Given the description of an element on the screen output the (x, y) to click on. 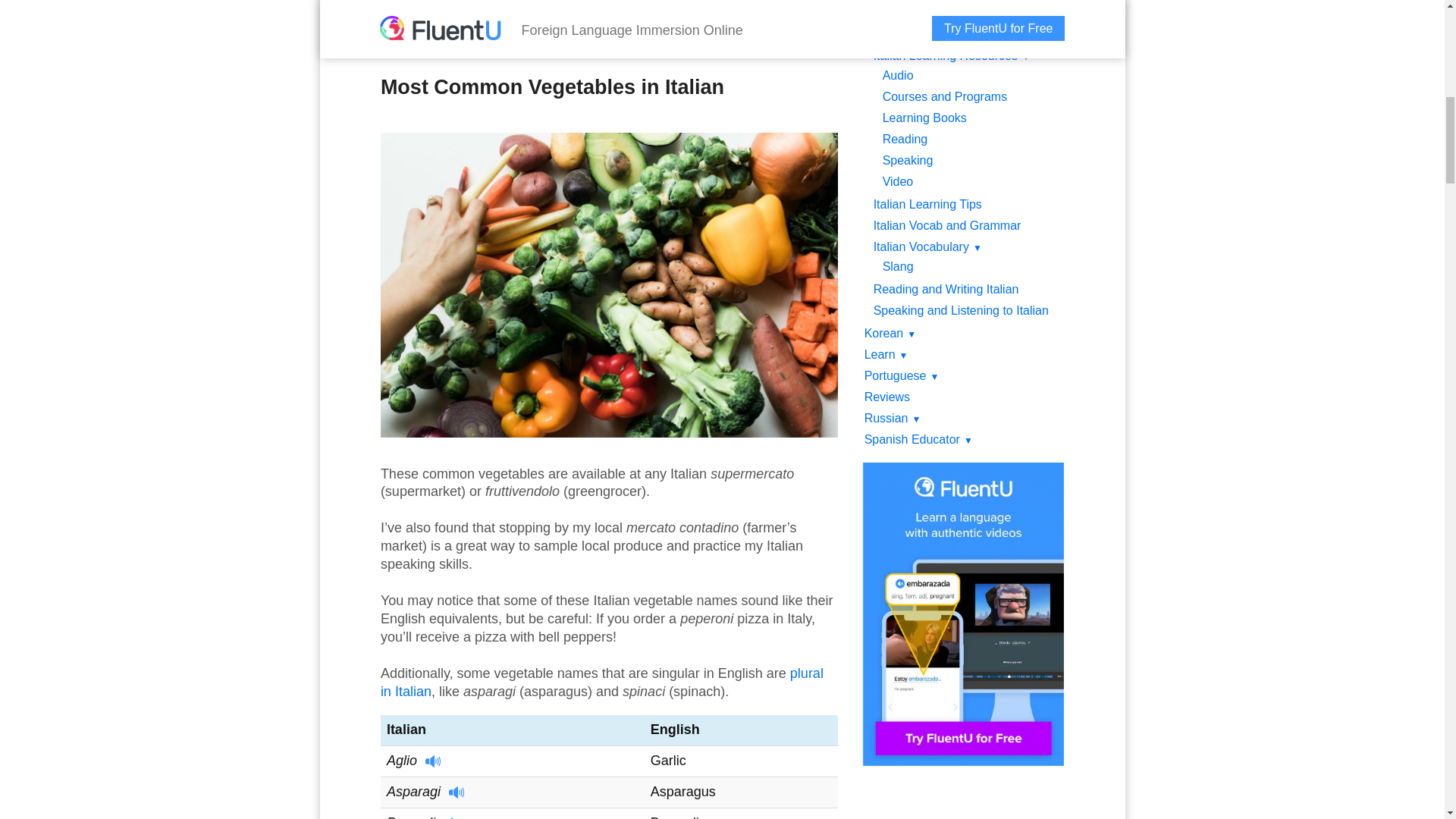
Asparagi (426, 791)
Aglio (414, 760)
plural in Italian (602, 682)
Broccoli (423, 816)
